Given the description of an element on the screen output the (x, y) to click on. 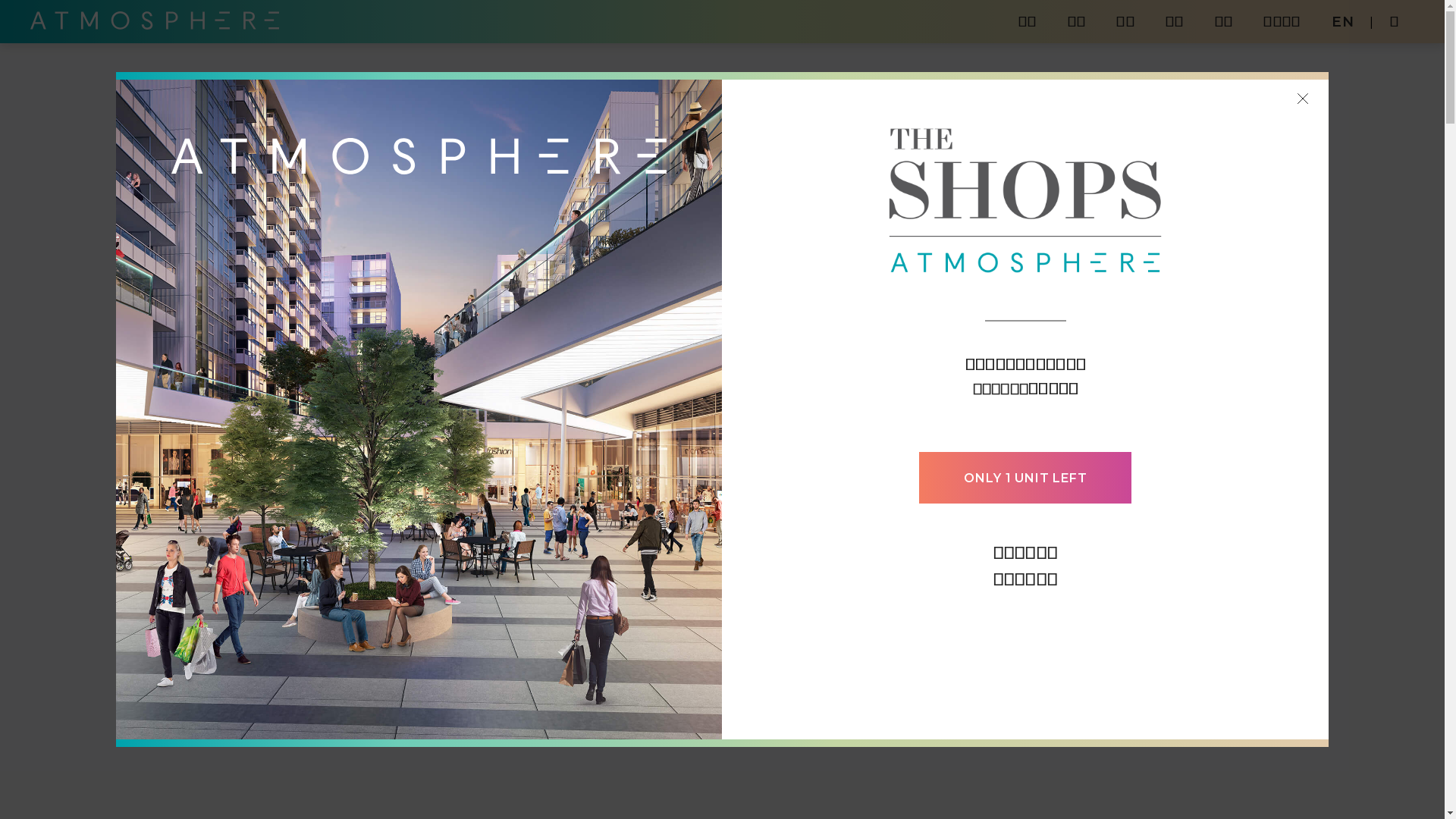
EN Element type: text (1343, 21)
ONLY 1 UNIT LEFT Element type: text (1024, 477)
